Given the description of an element on the screen output the (x, y) to click on. 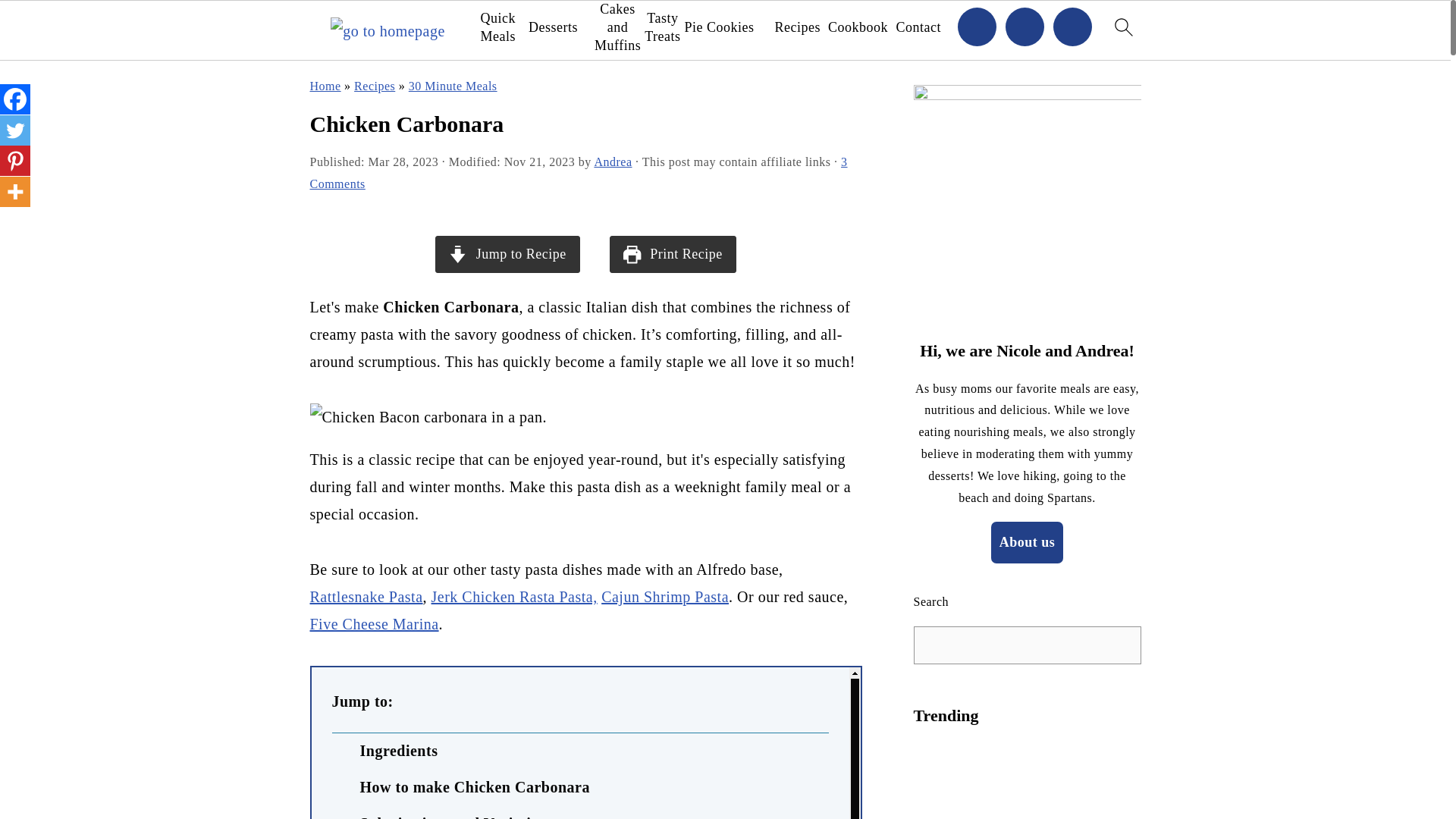
search icon (1122, 26)
More (15, 191)
Pie (693, 27)
Facebook (15, 99)
search icon (1122, 30)
Quick Meals (497, 27)
Cookbook (858, 27)
Cakes and Muffins (617, 27)
Cookies (730, 27)
Twitter (15, 130)
Tasty Treats (662, 27)
Contact (919, 27)
Desserts (553, 27)
Pinterest (15, 160)
Recipes (797, 27)
